Given the description of an element on the screen output the (x, y) to click on. 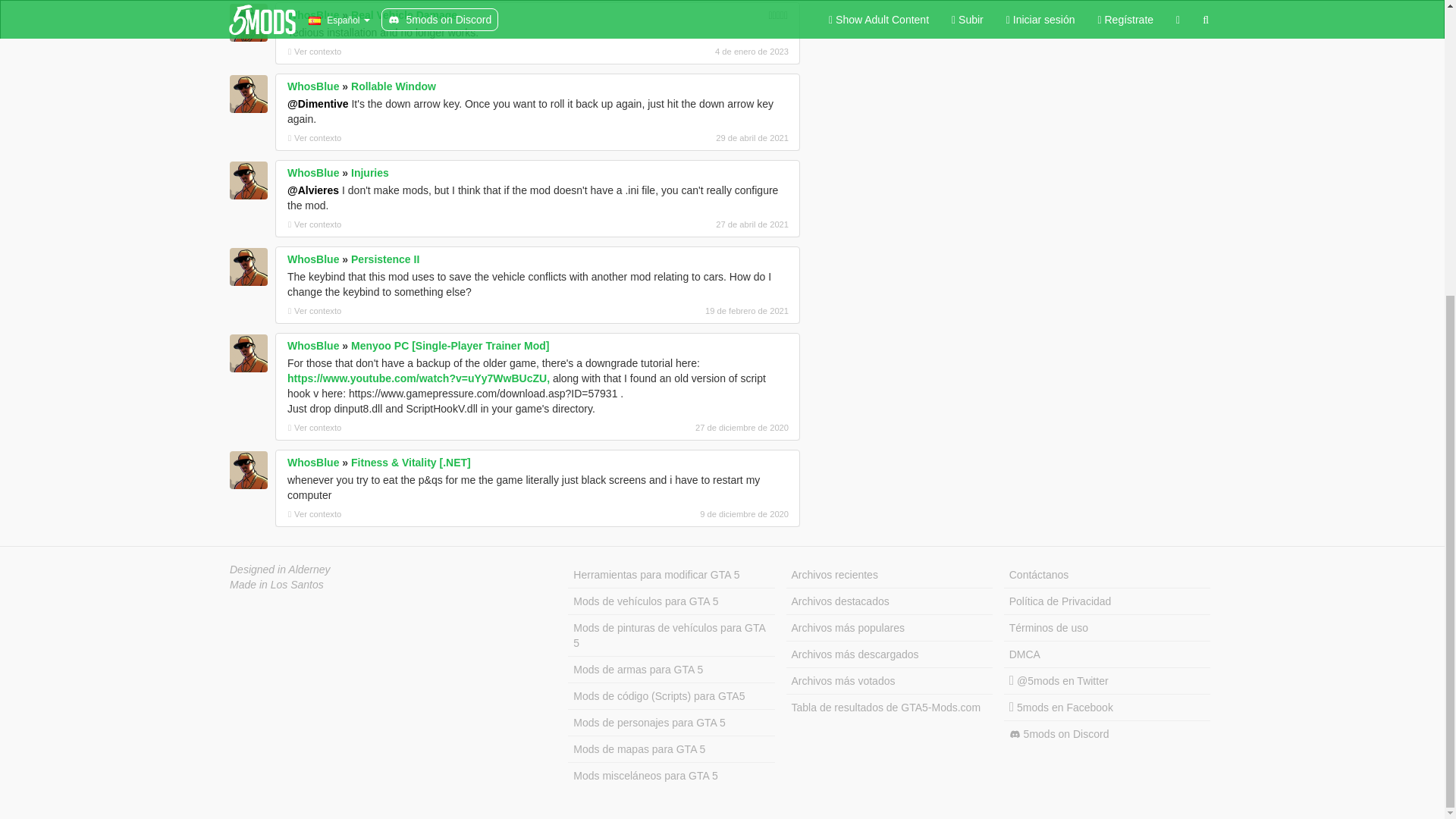
5mods on Discord (1106, 733)
5mods en Facebook (1106, 707)
